Given the description of an element on the screen output the (x, y) to click on. 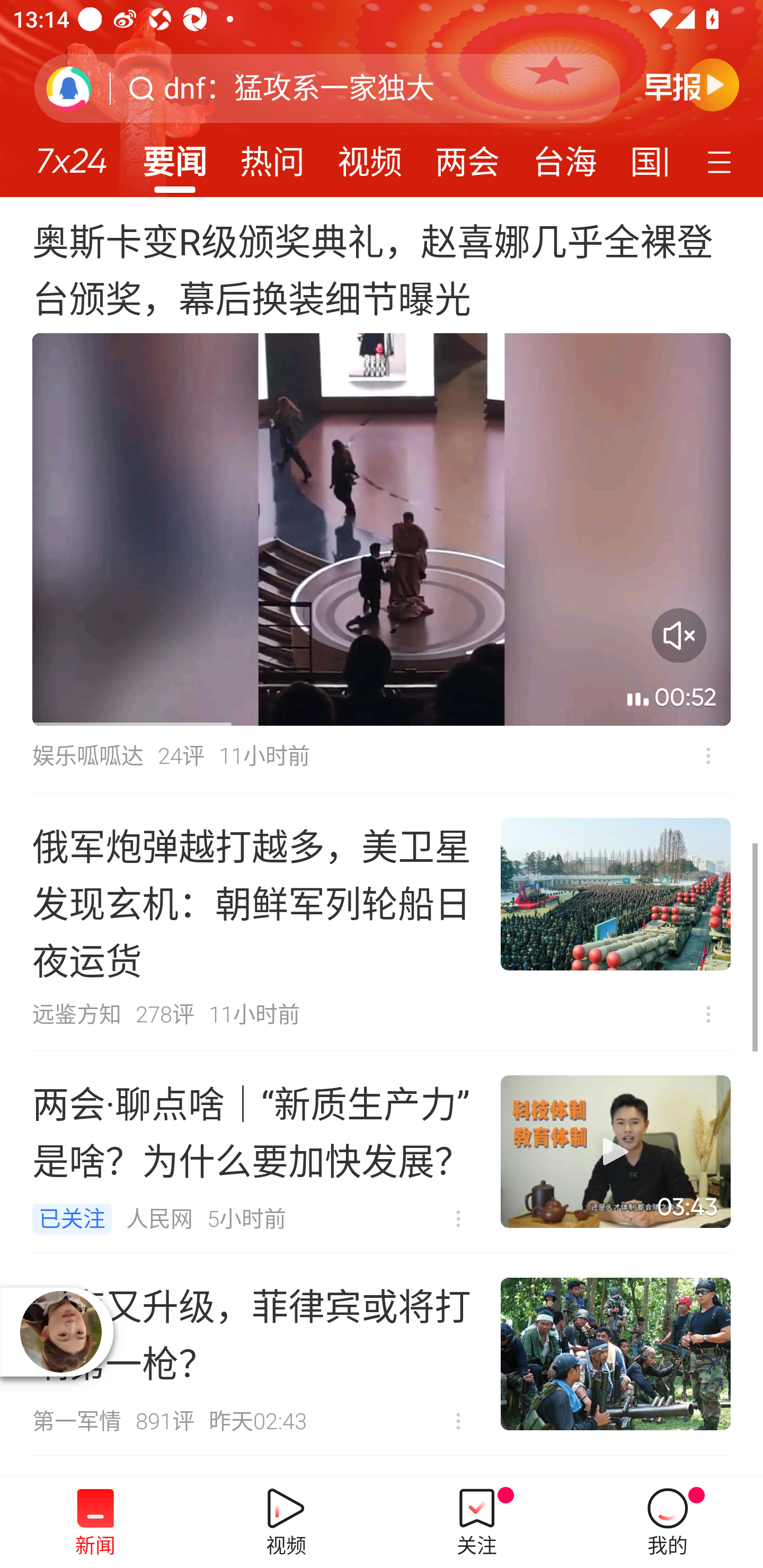
早晚报 (691, 84)
刷新 (68, 88)
dnf：猛攻系一家独大 (299, 88)
7x24 (70, 154)
要闻 (174, 155)
热问 (272, 155)
视频 (369, 155)
两会 (466, 155)
台海 (564, 155)
 定制频道 (721, 160)
音量开关 (678, 635)
 不感兴趣 (707, 755)
俄军炮弹越打越多，美卫星发现玄机：朝鲜军列轮船日夜运货 远鉴方知 278评 11小时前  不感兴趣 (381, 921)
 不感兴趣 (707, 1014)
 不感兴趣 (458, 1218)
南海又升级，菲律宾或将打响第一枪？ 第一军情 891评 昨天02:43  不感兴趣 (381, 1353)
播放器 (60, 1331)
 不感兴趣 (458, 1421)
